Given the description of an element on the screen output the (x, y) to click on. 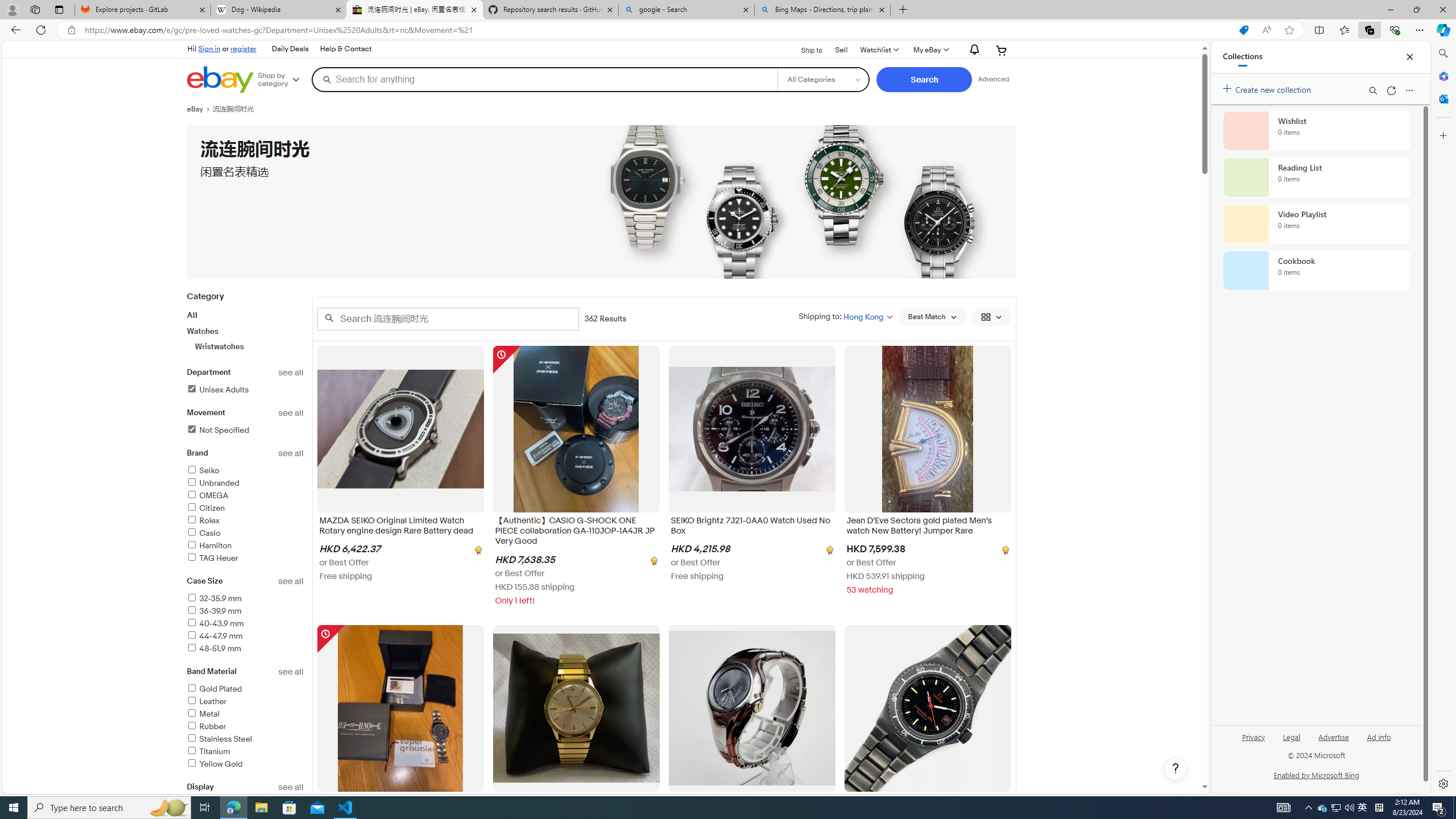
Help, opens dialogs (1175, 768)
Expand Cart (1001, 49)
Unisex AdultsFilter Applied (245, 389)
Ship to (804, 50)
See all display refinements (291, 787)
All (192, 315)
Gold Plated (213, 688)
WatchesWristwatches (245, 338)
Rubber (205, 726)
Privacy (1253, 736)
Watchlist (878, 49)
Search for anything (544, 78)
